Given the description of an element on the screen output the (x, y) to click on. 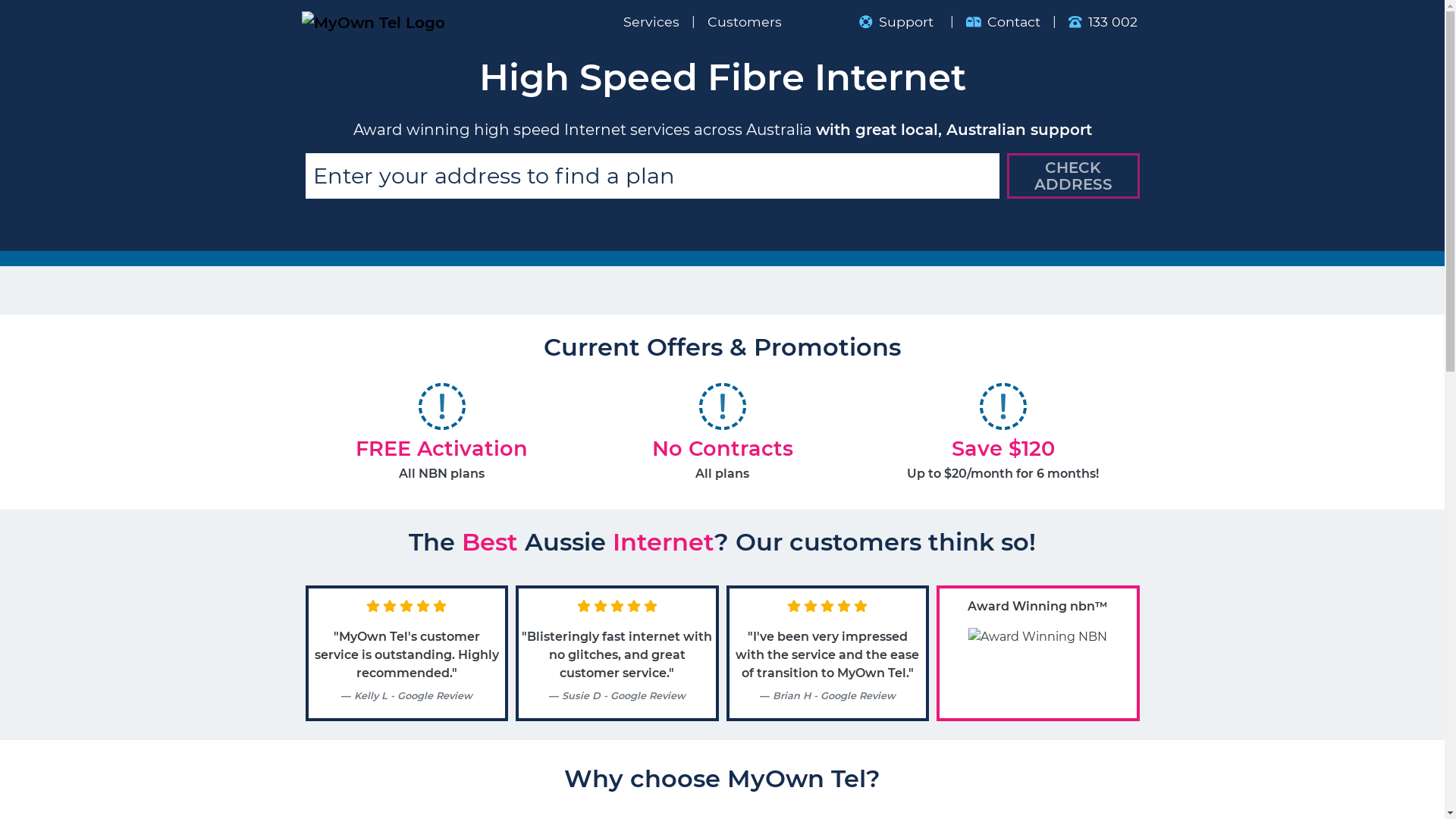
Support Element type: text (898, 21)
CHECK ADDRESS Element type: text (1073, 175)
Services Element type: text (639, 21)
Contact Element type: text (1003, 21)
133 002 Element type: text (1102, 21)
Customers Element type: text (746, 21)
